Given the description of an element on the screen output the (x, y) to click on. 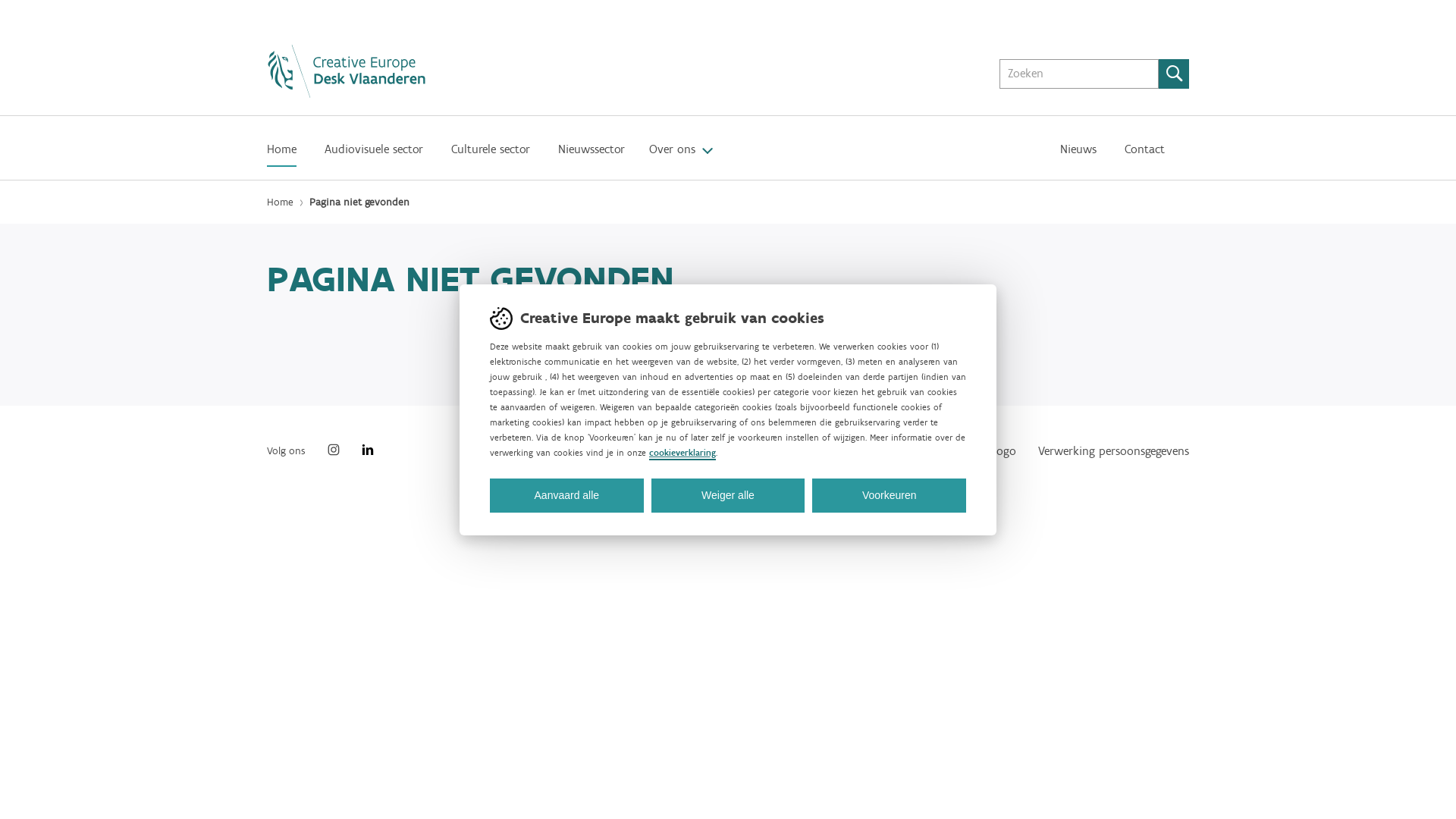
instagram Element type: text (333, 451)
Home Element type: text (281, 153)
Voorkeuren Element type: text (889, 494)
cookieverklaring Element type: text (682, 454)
Mijn voorkeuren bewaren Element type: text (503, 486)
Creative Europe Logo Element type: text (961, 450)
Nieuwssector Element type: text (591, 153)
Contact Element type: text (1144, 153)
Weiger alle Element type: text (728, 494)
Inschrijven op onze nieuwsbrief Element type: text (627, 447)
Archief Nieuwsbrieven Element type: text (827, 450)
Overslaan en naar de inhoud gaan Element type: text (0, 32)
Audiovisuele sector Element type: text (373, 153)
Home Element type: text (282, 201)
Verwerking persoonsgegevens Element type: text (1113, 450)
Nieuws Element type: text (1078, 153)
Aanvaard alle Element type: text (566, 494)
Over ons Element type: text (672, 153)
linkedin Element type: text (367, 451)
Culturele sector Element type: text (490, 153)
